Given the description of an element on the screen output the (x, y) to click on. 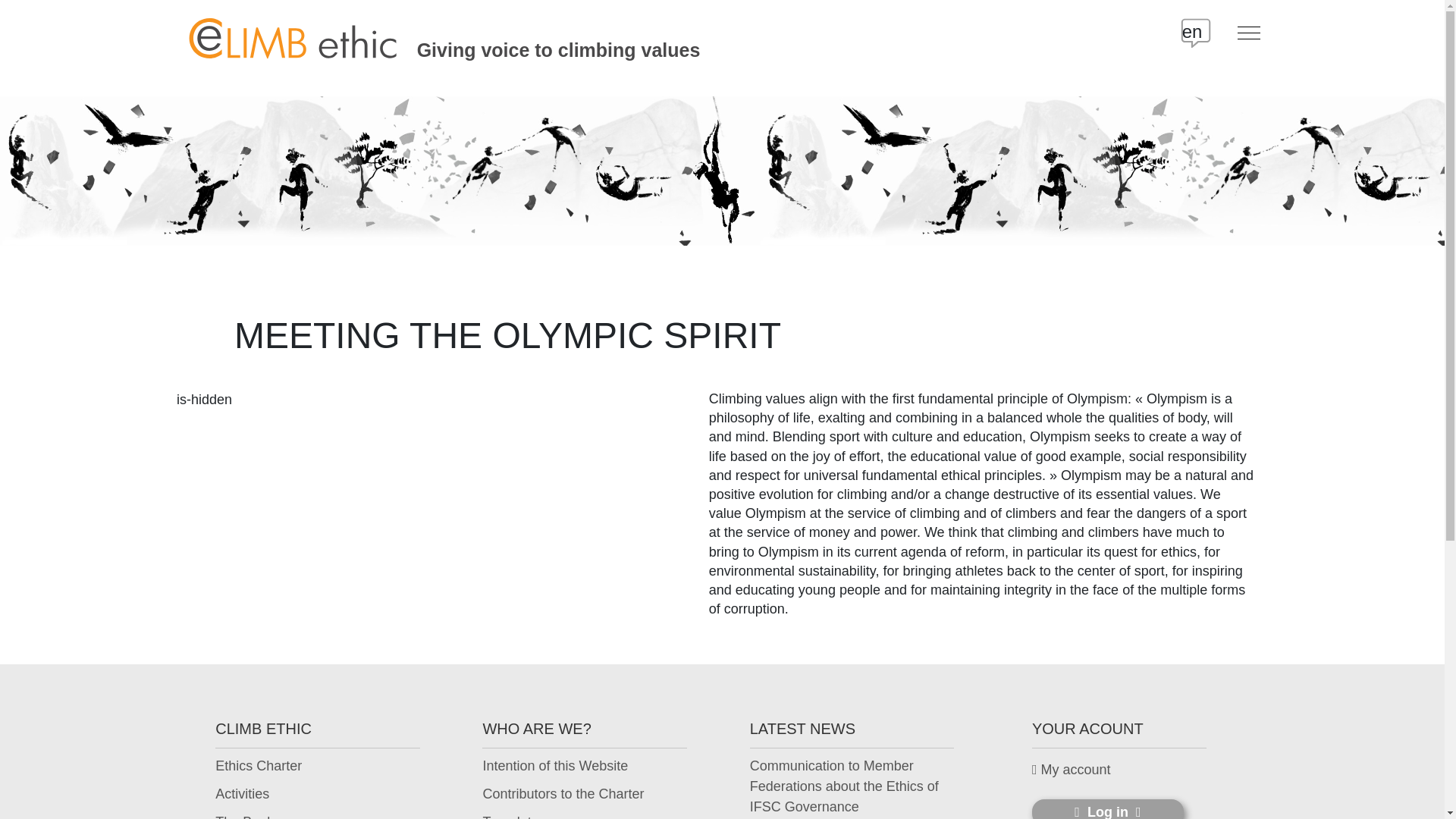
Language menu (1207, 33)
Ethics Charter (258, 765)
Intention of this Website (554, 765)
Article updated on 30 March 2022 (855, 786)
Translators (515, 815)
My account (1071, 770)
Who are we? (515, 815)
The Book (244, 815)
Activities (242, 793)
Who are we? (554, 765)
Activities (242, 793)
Home (290, 31)
Who are we? (562, 793)
The Book (244, 815)
